Given the description of an element on the screen output the (x, y) to click on. 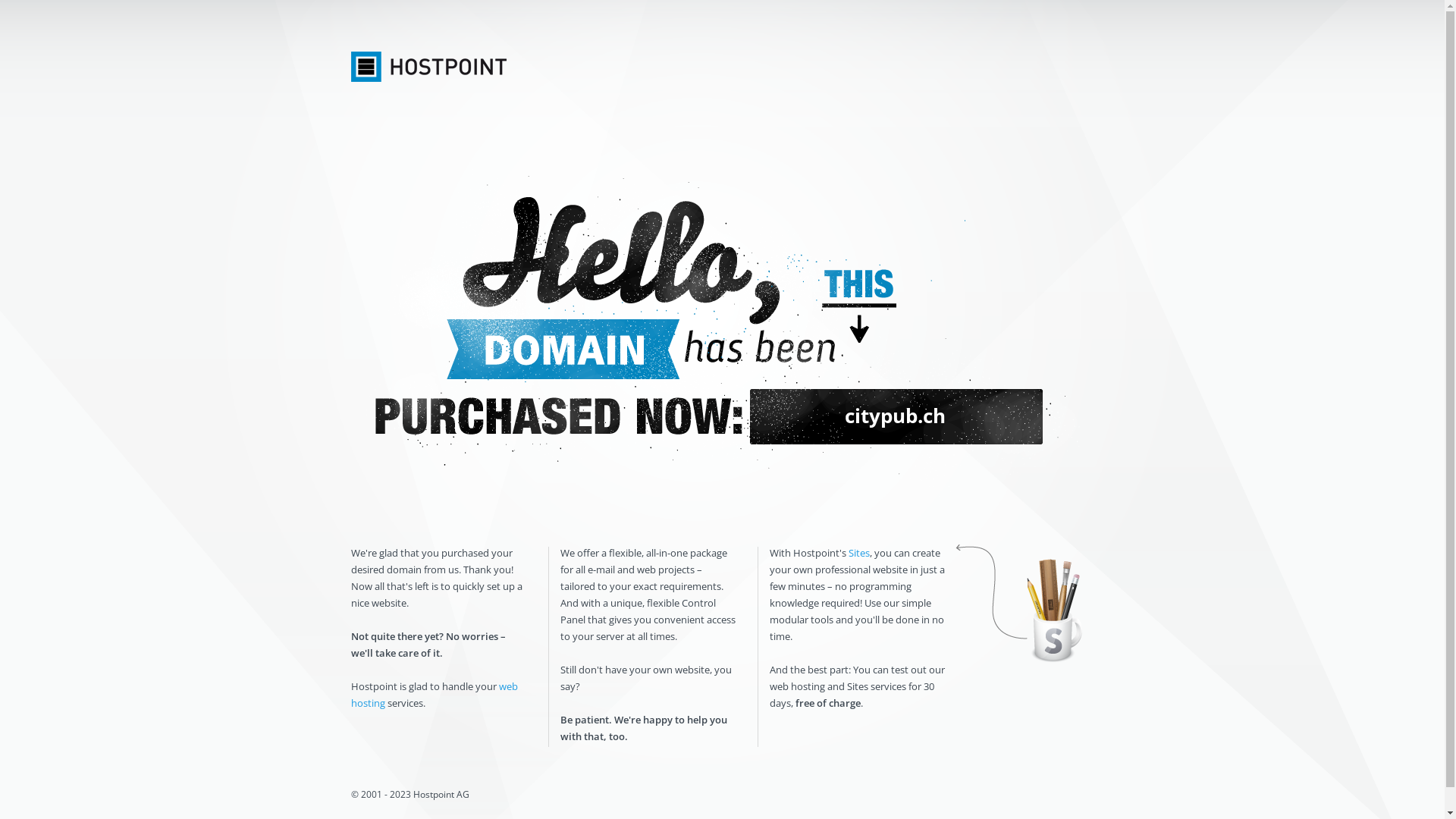
Sites Element type: text (858, 552)
web hosting Element type: text (433, 694)
